Given the description of an element on the screen output the (x, y) to click on. 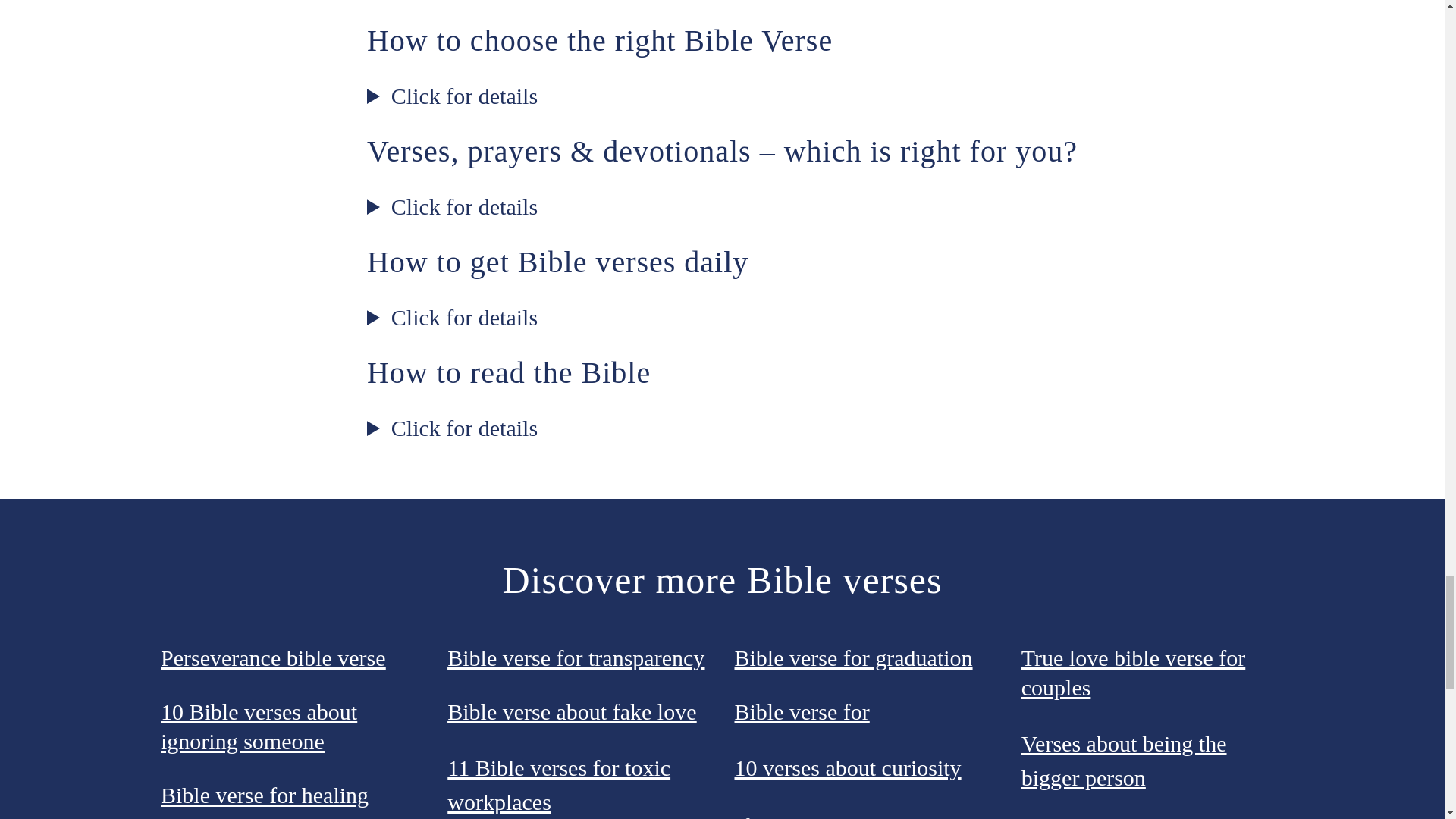
Bible verse about fake love (570, 711)
10 Bible verses about ignoring someone (258, 726)
Bible verse for transparency (575, 656)
11 Bible verses for toxic workplaces (557, 784)
Bible verse for healing (264, 794)
Perseverance bible verse (272, 656)
